Given the description of an element on the screen output the (x, y) to click on. 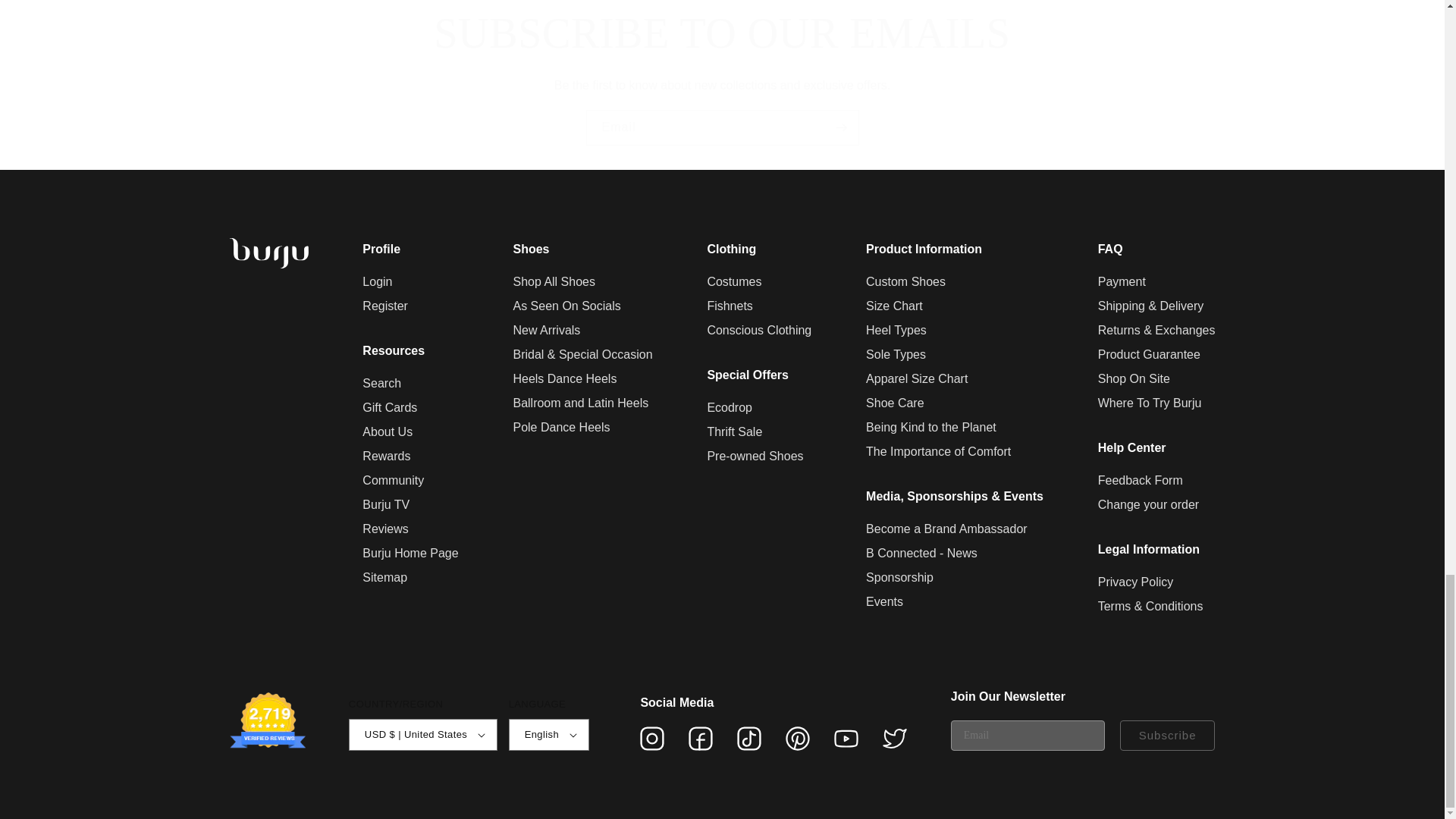
SUBSCRIBE TO OUR EMAILS (721, 33)
Email (722, 127)
